Given the description of an element on the screen output the (x, y) to click on. 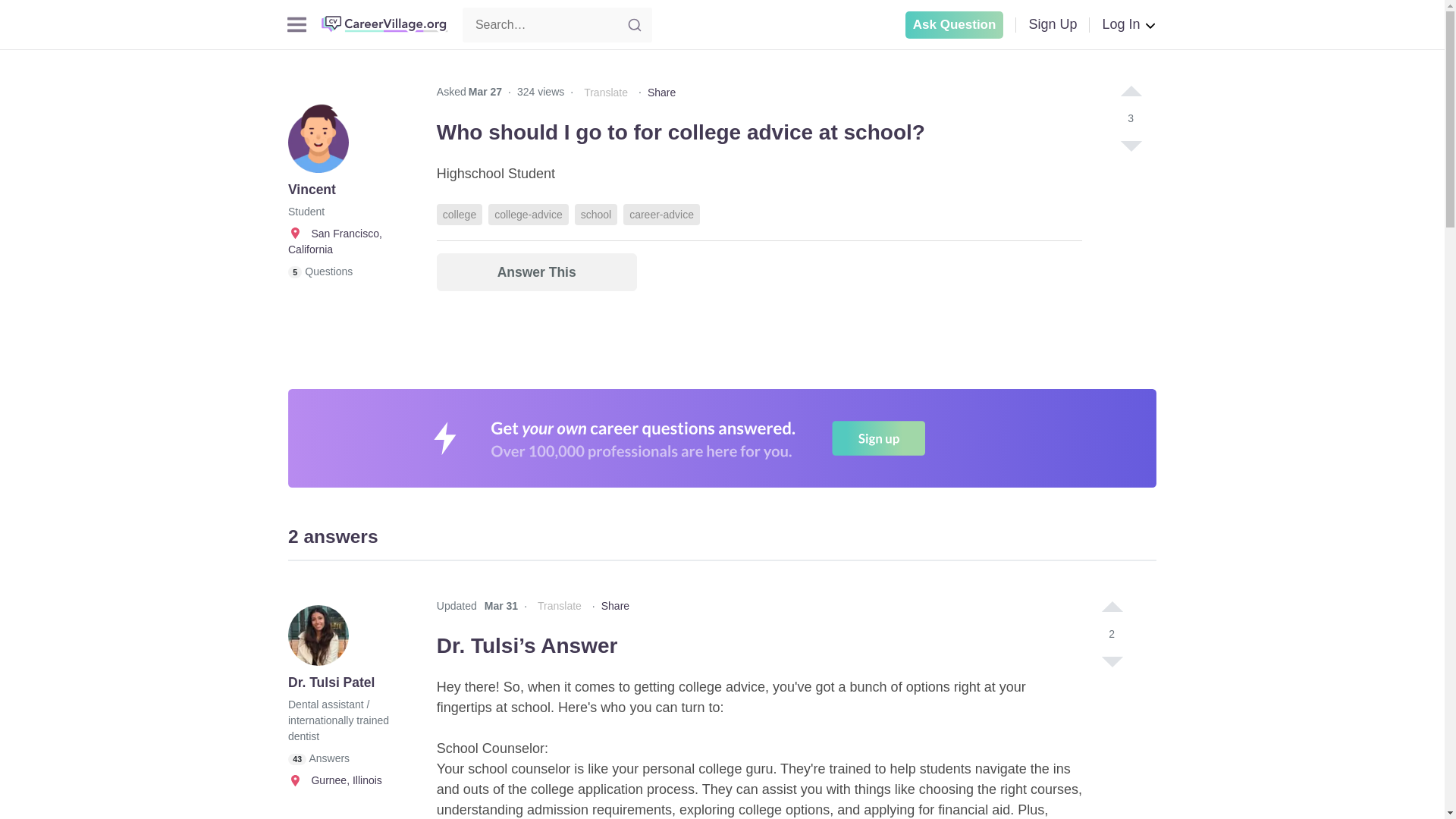
college-advice (528, 214)
  San Francisco, California (334, 241)
school (596, 214)
Answer This (536, 272)
Translate (605, 92)
college (458, 214)
Share (661, 92)
career-advice (661, 214)
